Given the description of an element on the screen output the (x, y) to click on. 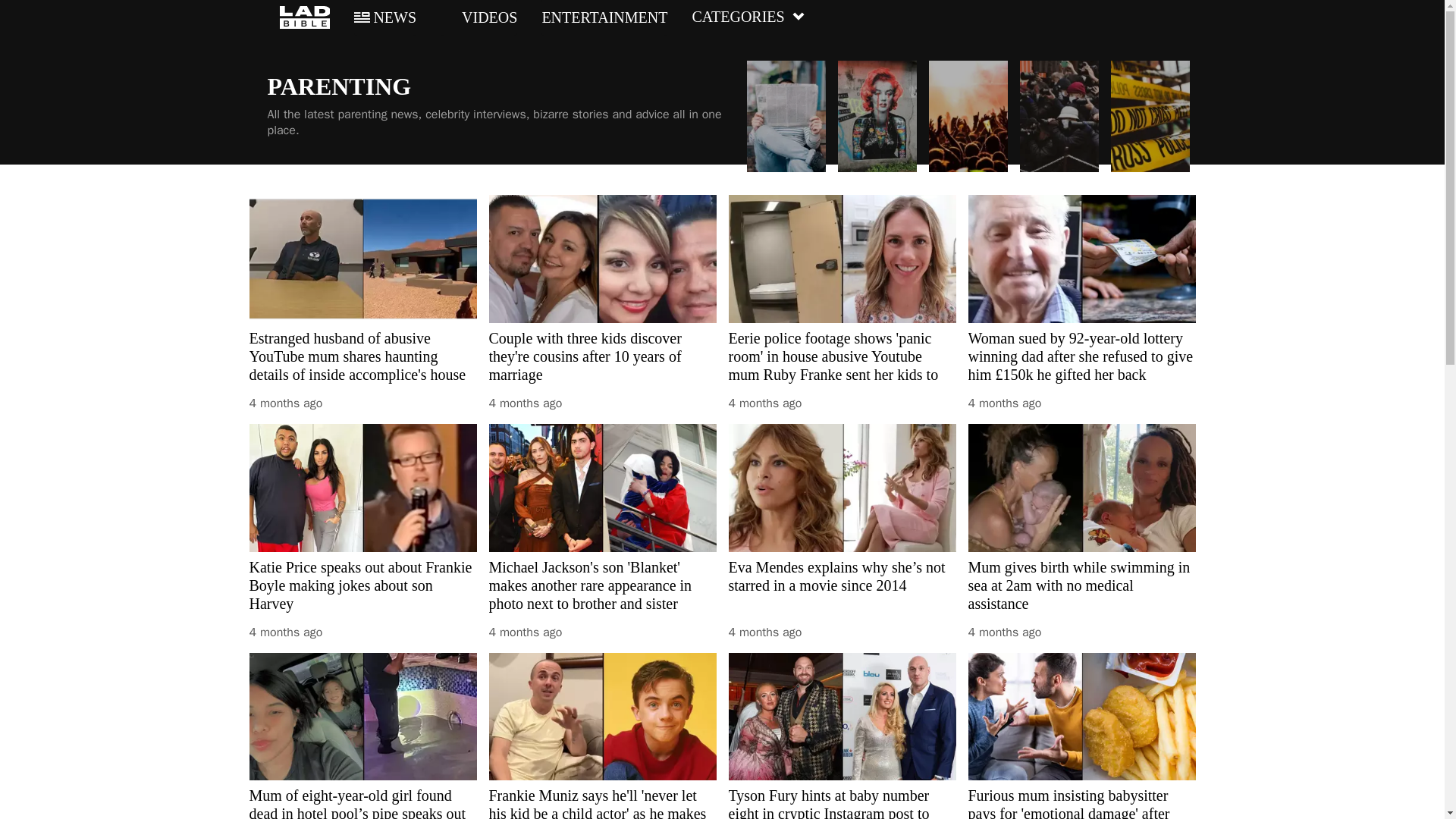
CATEGORIES (748, 17)
NEWS (384, 17)
ENTERTAINMENT (603, 17)
VIDEOS (478, 17)
